Given the description of an element on the screen output the (x, y) to click on. 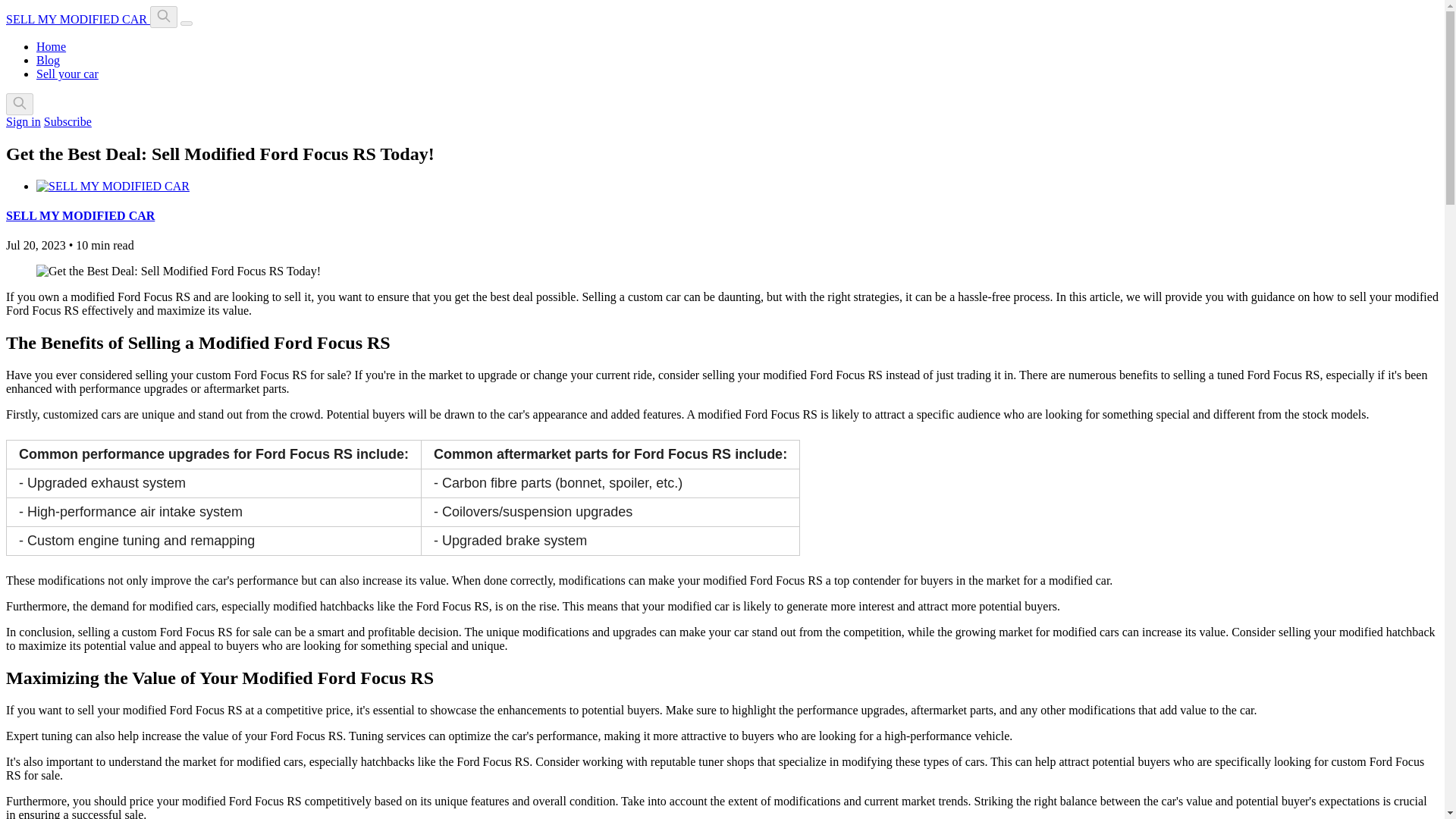
Sell your car (67, 73)
Blog (47, 60)
SELL MY MODIFIED CAR (77, 19)
Home (50, 46)
Subscribe (67, 121)
SELL MY MODIFIED CAR (79, 215)
Sign in (22, 121)
